Given the description of an element on the screen output the (x, y) to click on. 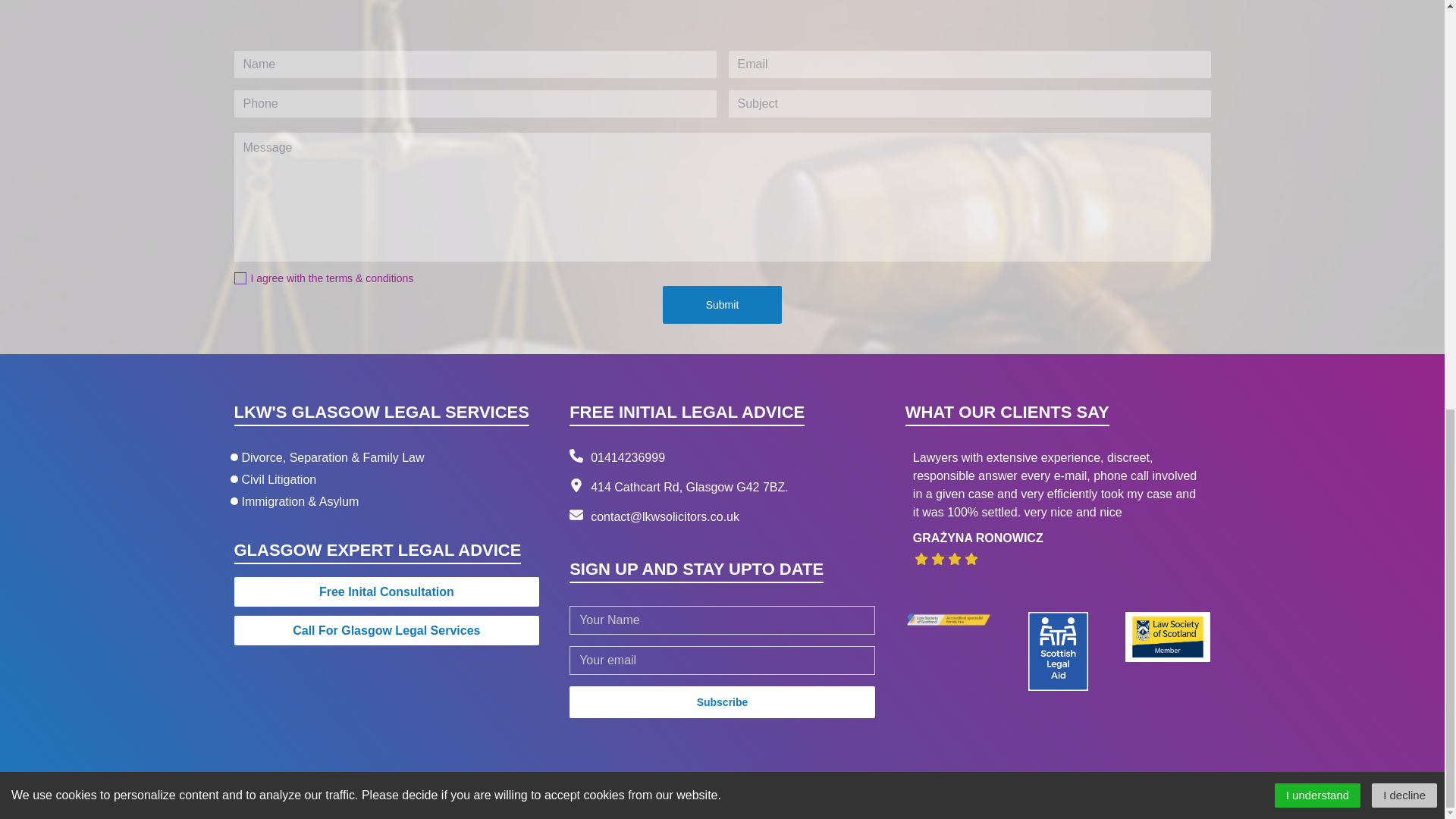
on (239, 277)
